Given the description of an element on the screen output the (x, y) to click on. 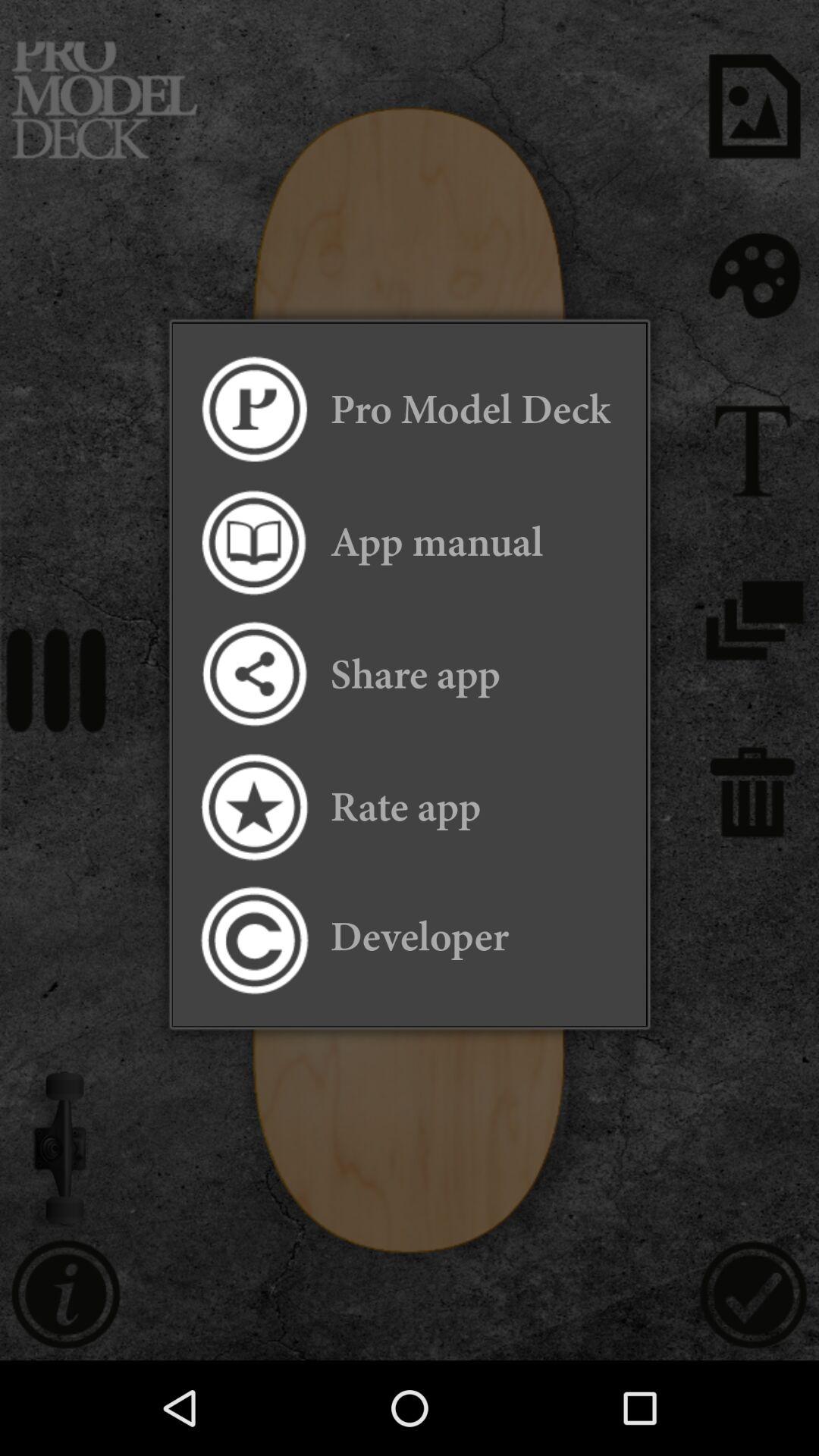
share this app (253, 674)
